Given the description of an element on the screen output the (x, y) to click on. 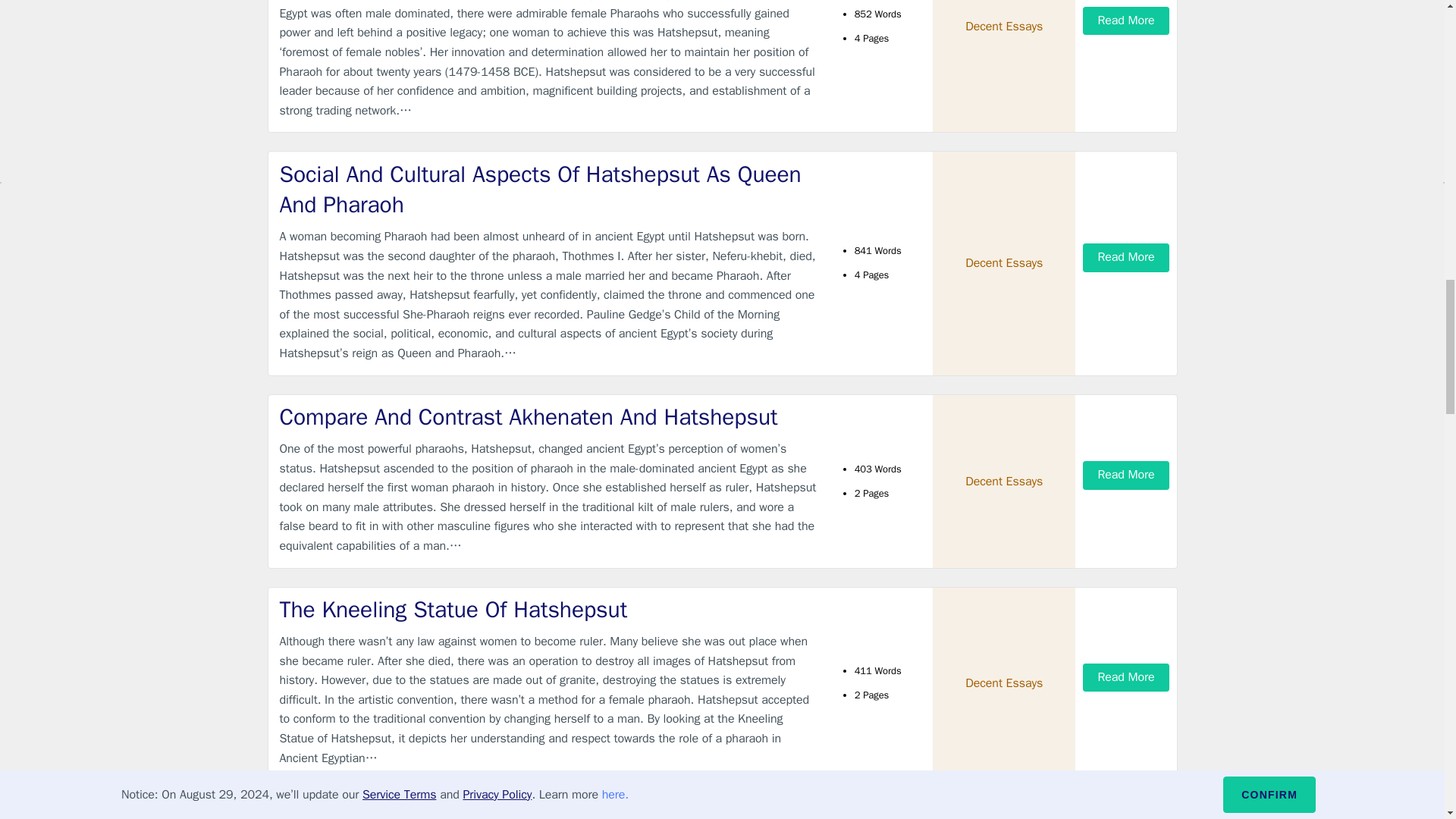
Read More (1126, 474)
The Kneeling Statue Of Hatshepsut (548, 609)
Read More (1126, 257)
Read More (1126, 20)
Han Dynasty Changes (548, 812)
Compare And Contrast Akhenaten And Hatshepsut (548, 417)
Read More (1126, 677)
